Given the description of an element on the screen output the (x, y) to click on. 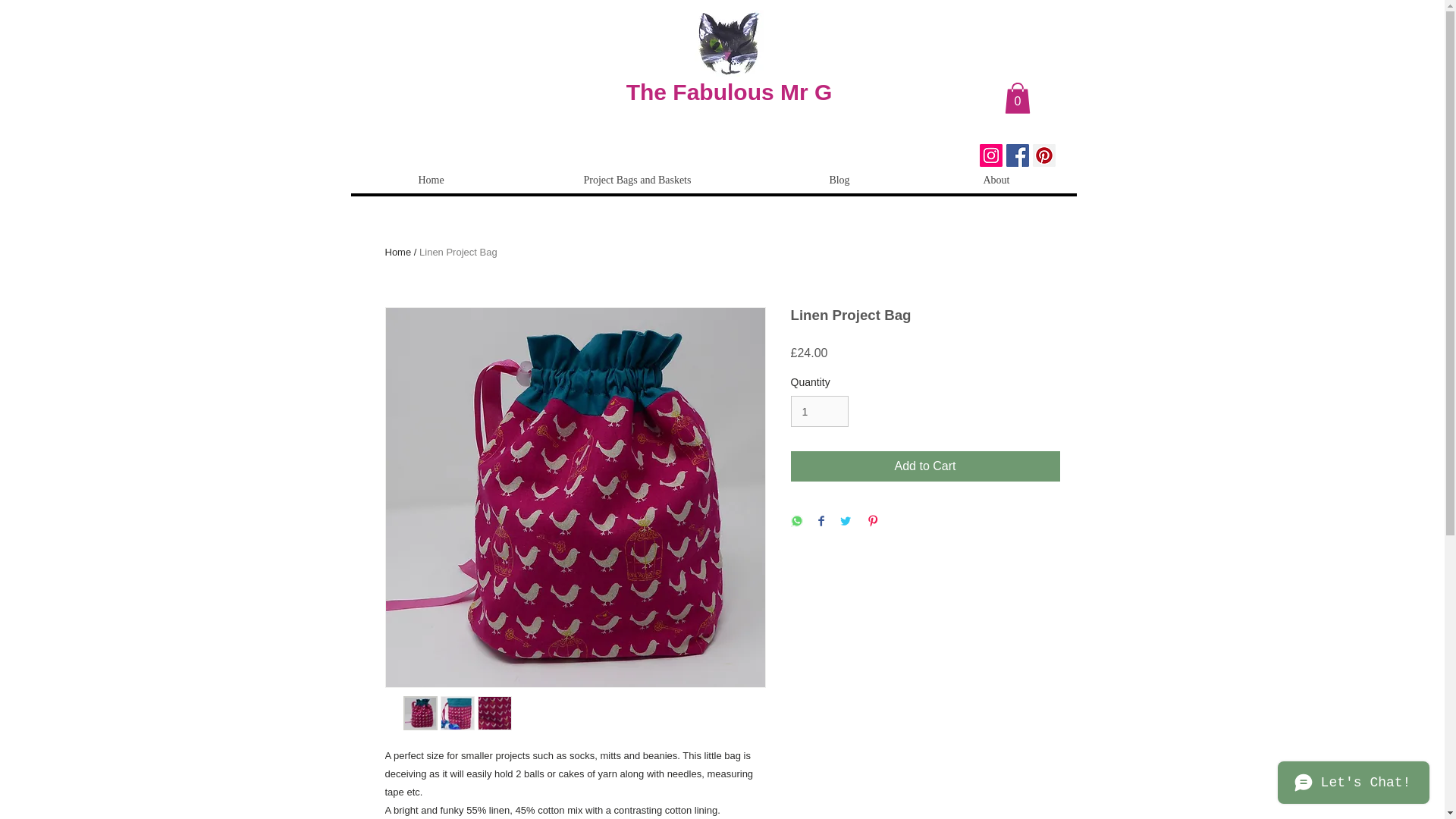
Home (398, 251)
About (996, 180)
Project Bags and Baskets (636, 180)
Add to Cart (924, 466)
Blog (838, 180)
Linen Project Bag (458, 251)
Home (430, 180)
1 (818, 410)
MrG picture.jpg (728, 42)
